Given the description of an element on the screen output the (x, y) to click on. 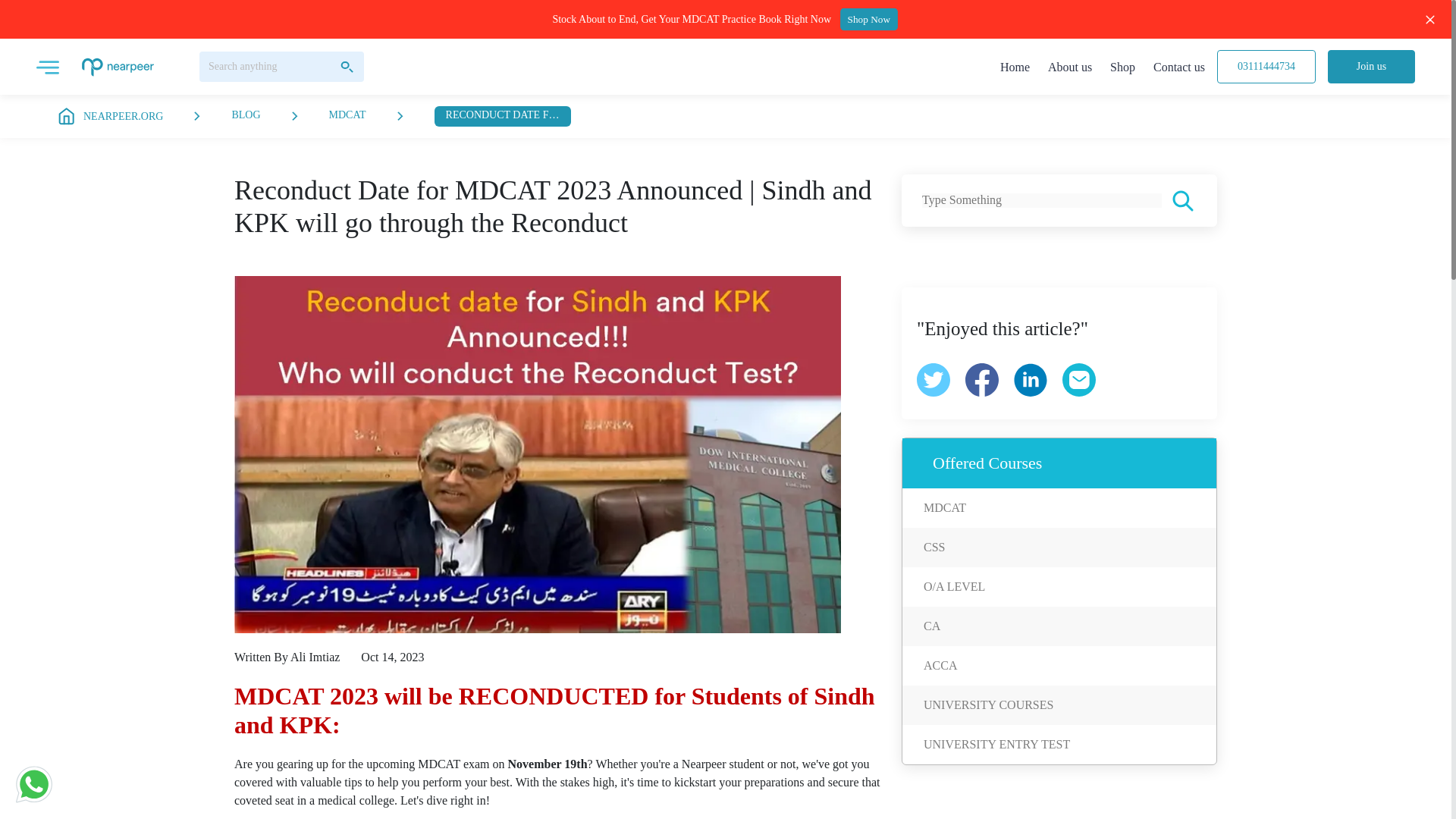
CSS (933, 546)
UNIVERSITY ENTRY TEST (996, 744)
NEARPEER.ORG (109, 116)
BLOG (245, 114)
Shop (1122, 66)
Contact us (1179, 66)
Shop Now (871, 19)
MDCAT (347, 114)
ACCA (939, 665)
Join us (1371, 66)
